Given the description of an element on the screen output the (x, y) to click on. 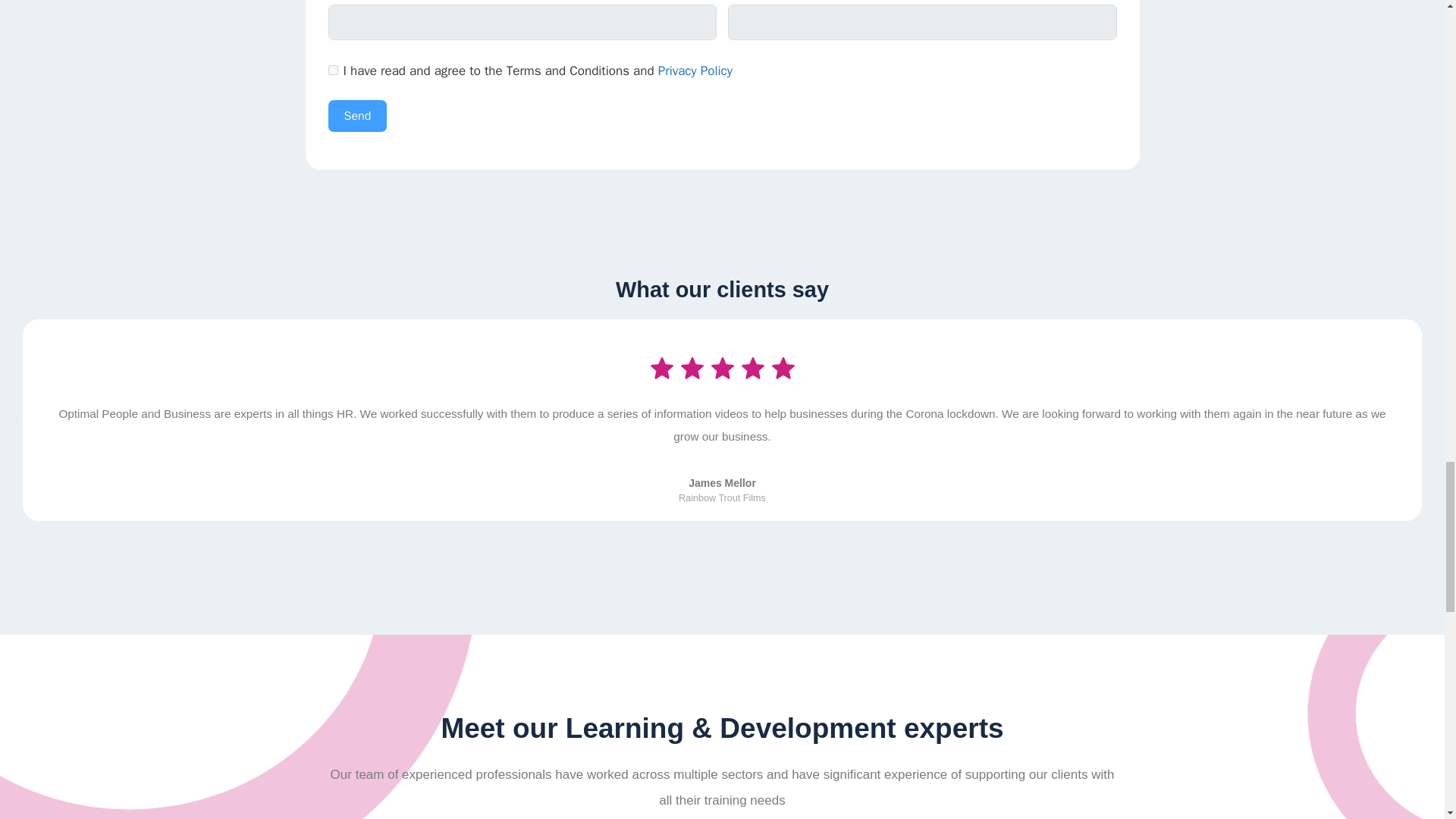
Privacy Policy (695, 70)
on (332, 70)
Send (357, 115)
